Given the description of an element on the screen output the (x, y) to click on. 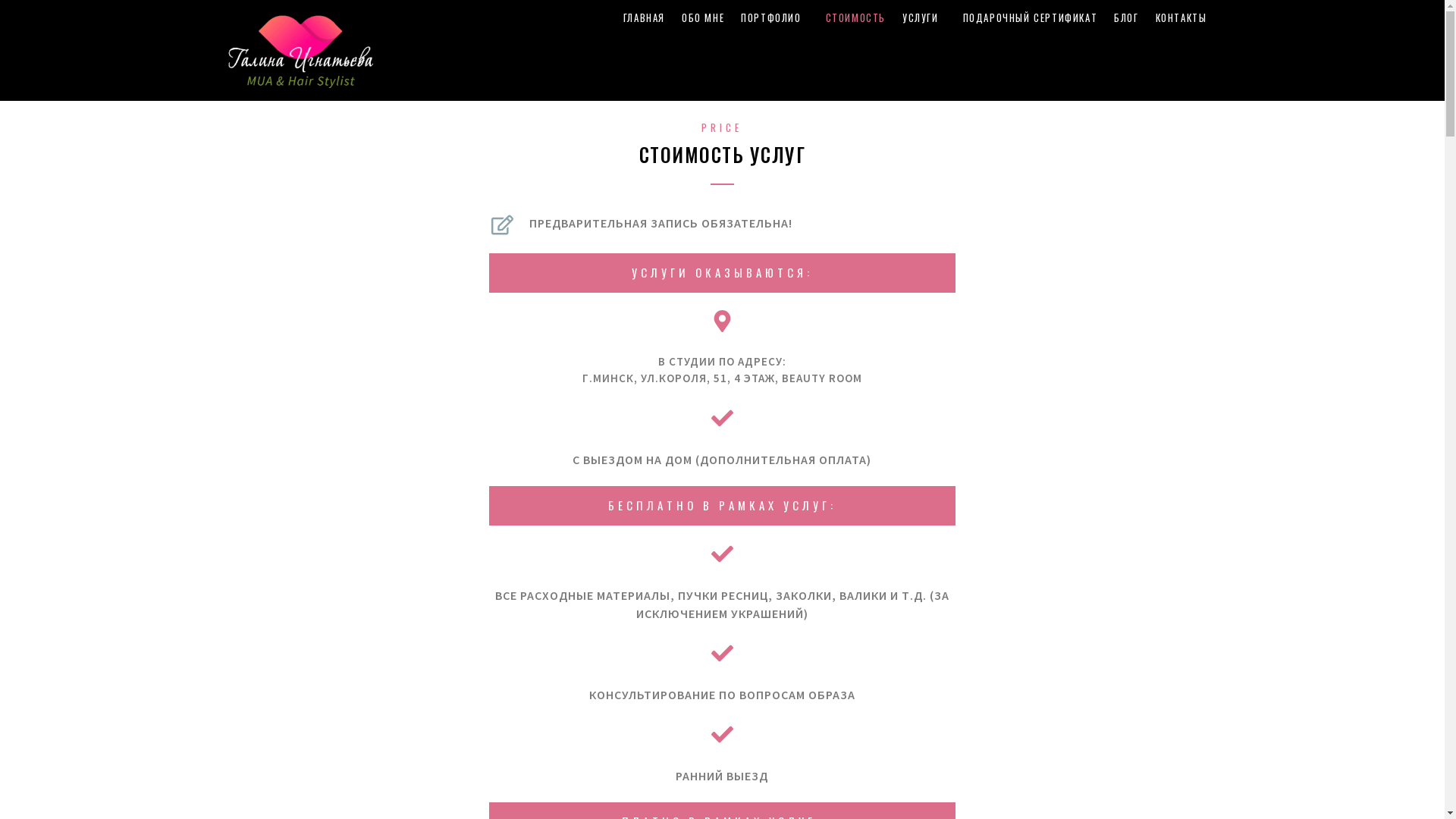
PRICE Element type: text (721, 126)
